Given the description of an element on the screen output the (x, y) to click on. 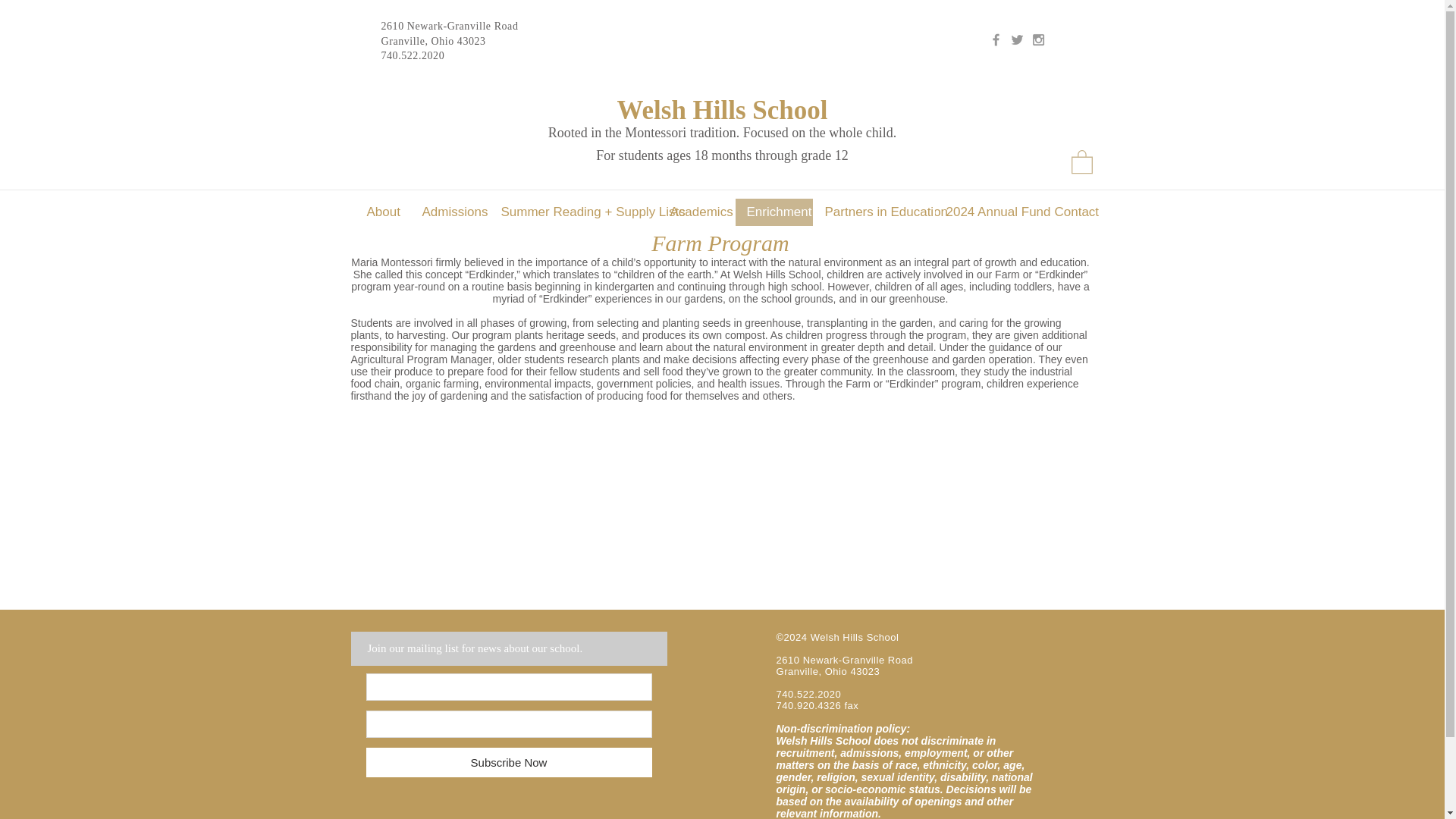
Subscribe Now (507, 762)
2024 Annual Fund (988, 212)
Contact (1072, 212)
About (382, 212)
Enrichment (772, 212)
Admissions (448, 212)
Academics (696, 212)
Partners in Education (873, 212)
Welsh Hills School (721, 110)
